Given the description of an element on the screen output the (x, y) to click on. 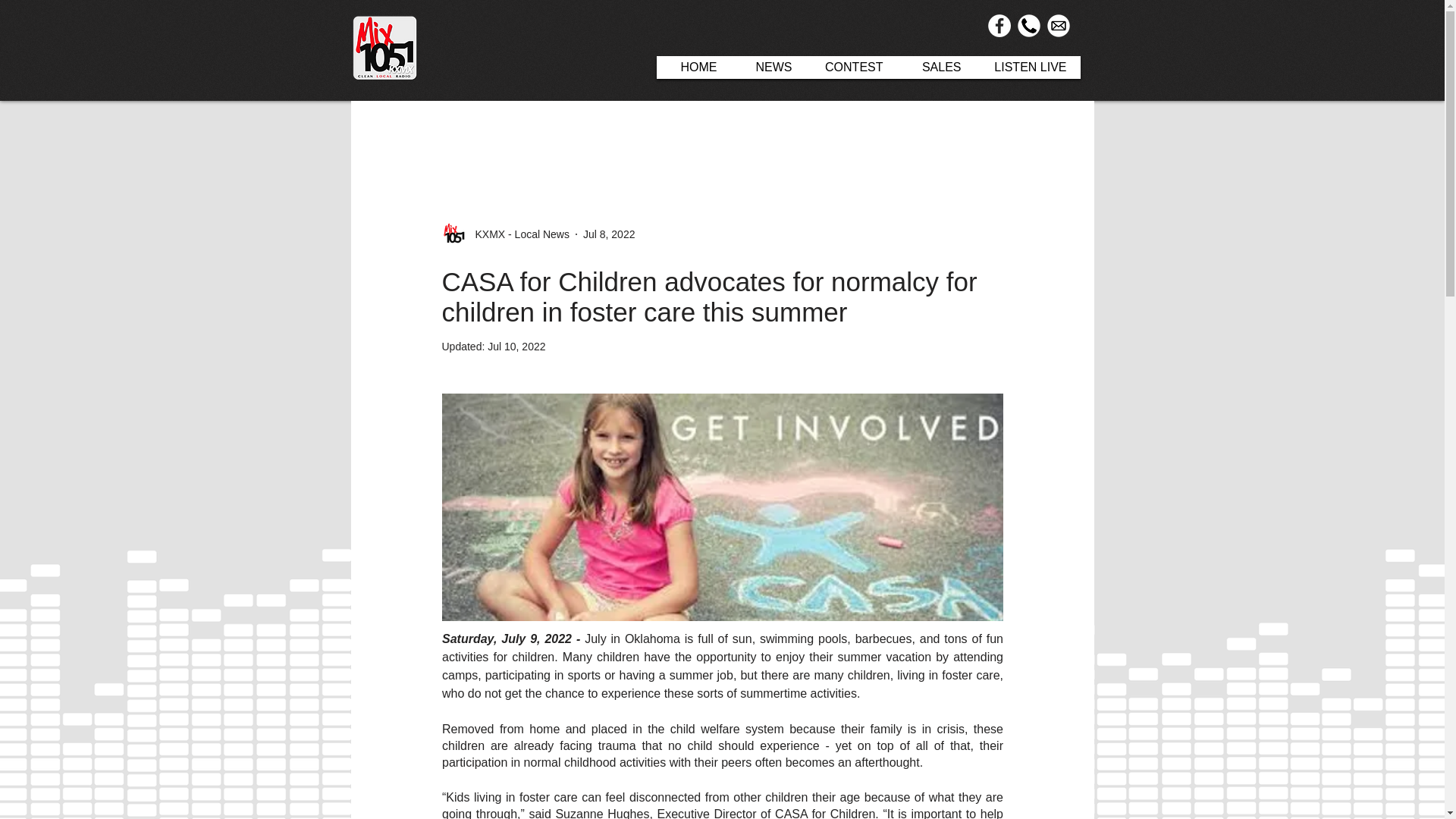
KXMX - Local News (517, 233)
KXMX - Local News (505, 233)
SALES (935, 67)
HOME (693, 67)
Jul 10, 2022 (515, 346)
LISTEN LIVE (1027, 67)
CONTEST (850, 67)
NEWS (768, 67)
Jul 8, 2022 (608, 233)
